Given the description of an element on the screen output the (x, y) to click on. 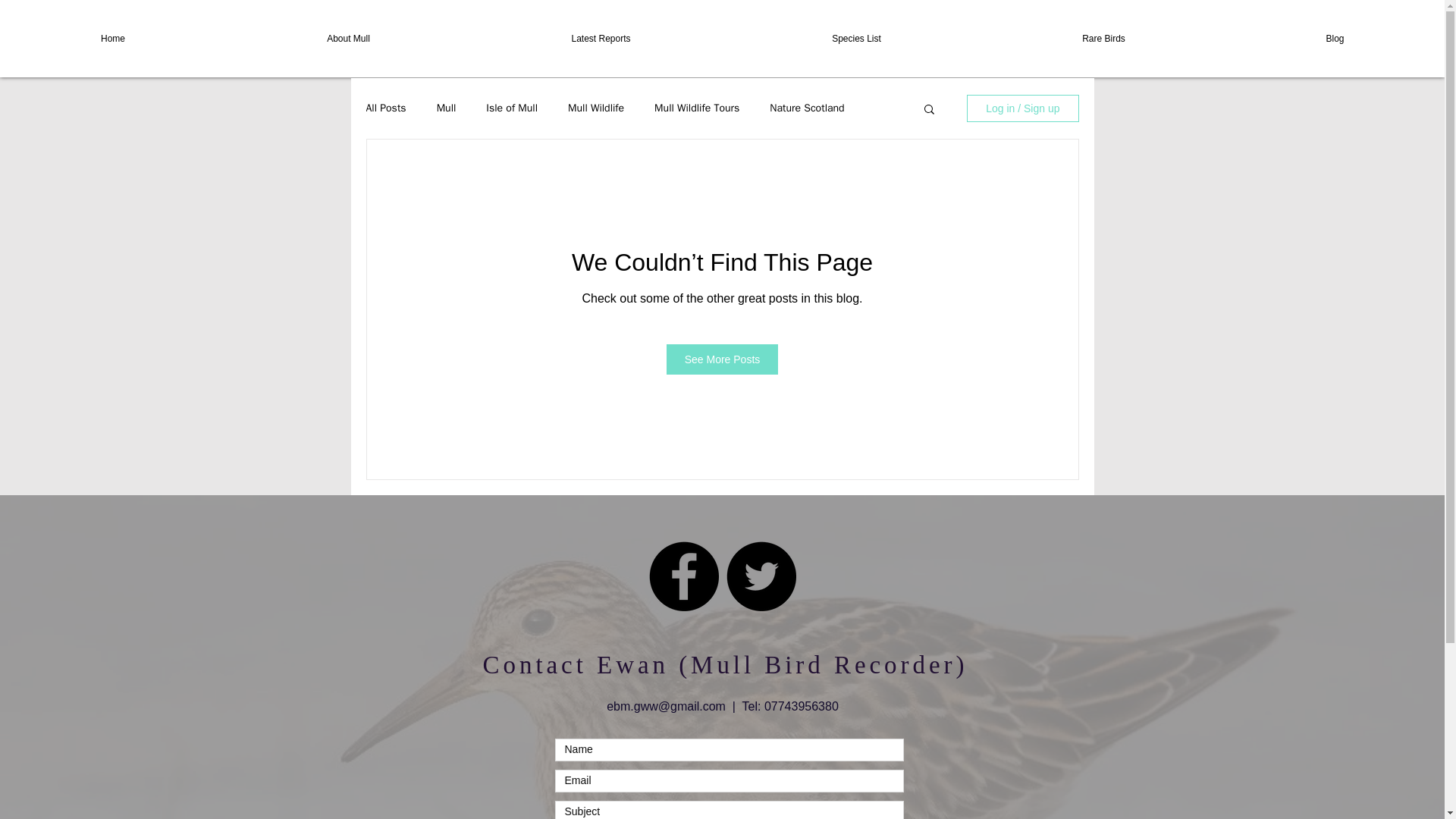
Species List (855, 38)
Nature Scotland (807, 108)
All Posts (385, 108)
Mull Wildlife (595, 108)
Isle of Mull (511, 108)
Rare Birds (1103, 38)
About Mull (347, 38)
See More Posts (722, 358)
Latest Reports (600, 38)
Mull (446, 108)
